Given the description of an element on the screen output the (x, y) to click on. 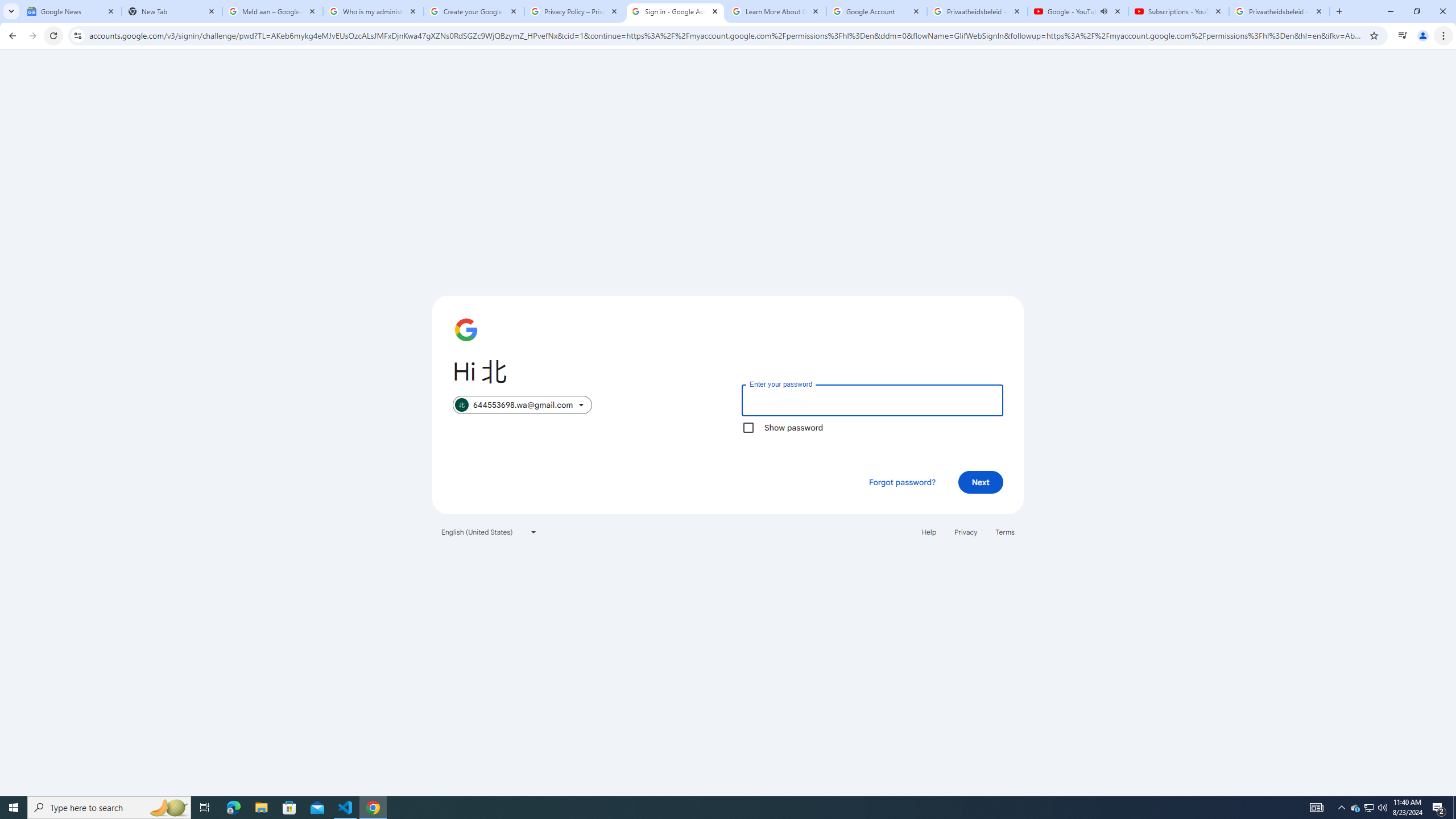
Next (980, 481)
Mute tab (1103, 10)
New Tab (171, 11)
